Given the description of an element on the screen output the (x, y) to click on. 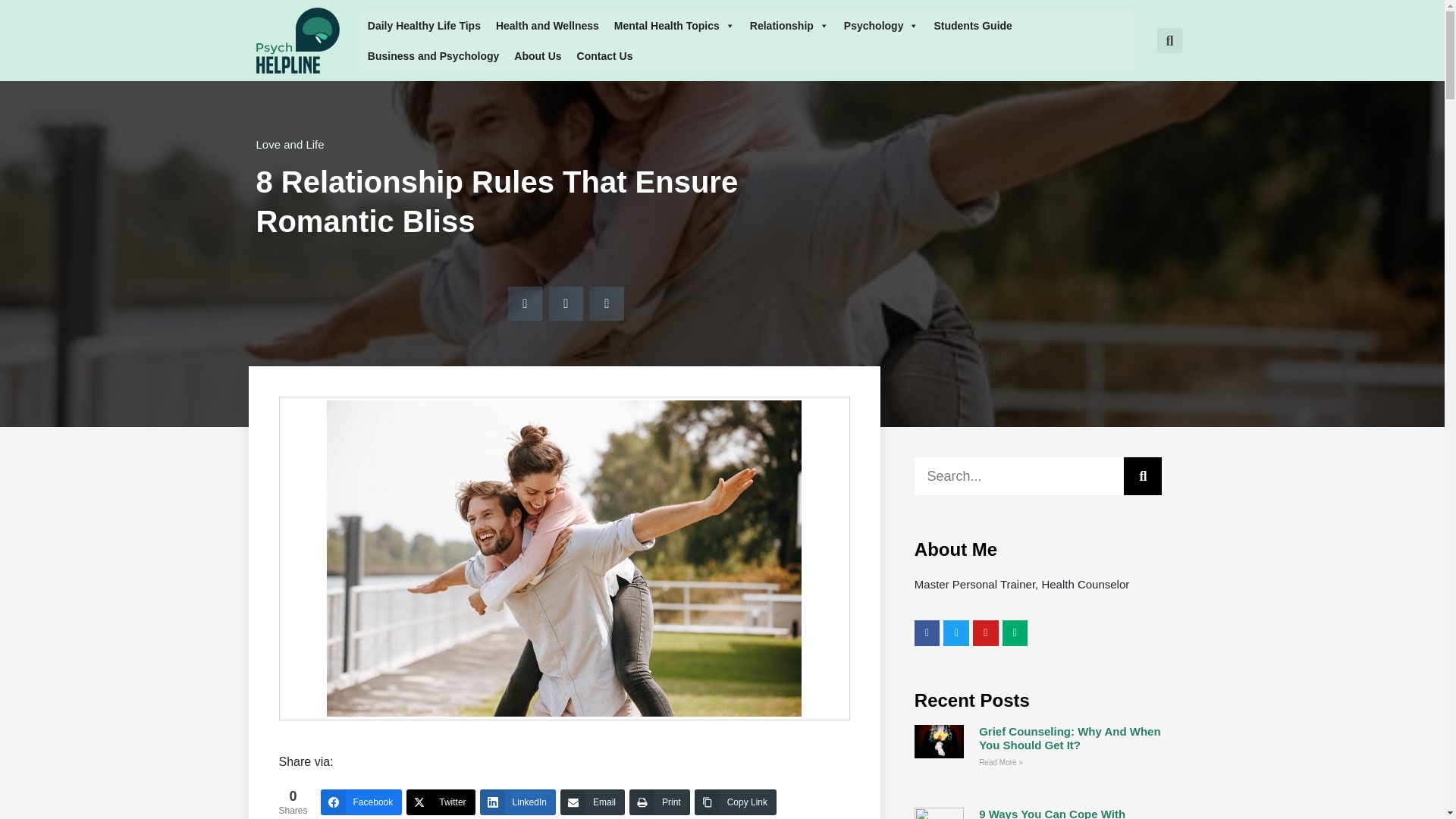
Print (659, 801)
Twitter (440, 801)
Email (592, 801)
Search (1019, 476)
Search (1142, 476)
Love and Life (290, 144)
Relationship (788, 25)
Mental Health Topics (674, 25)
About Us (537, 55)
Copy Link (735, 801)
Facebook (361, 801)
Contact Us (604, 55)
Business and Psychology (432, 55)
Daily Healthy Life Tips (423, 25)
Health and Wellness (547, 25)
